Given the description of an element on the screen output the (x, y) to click on. 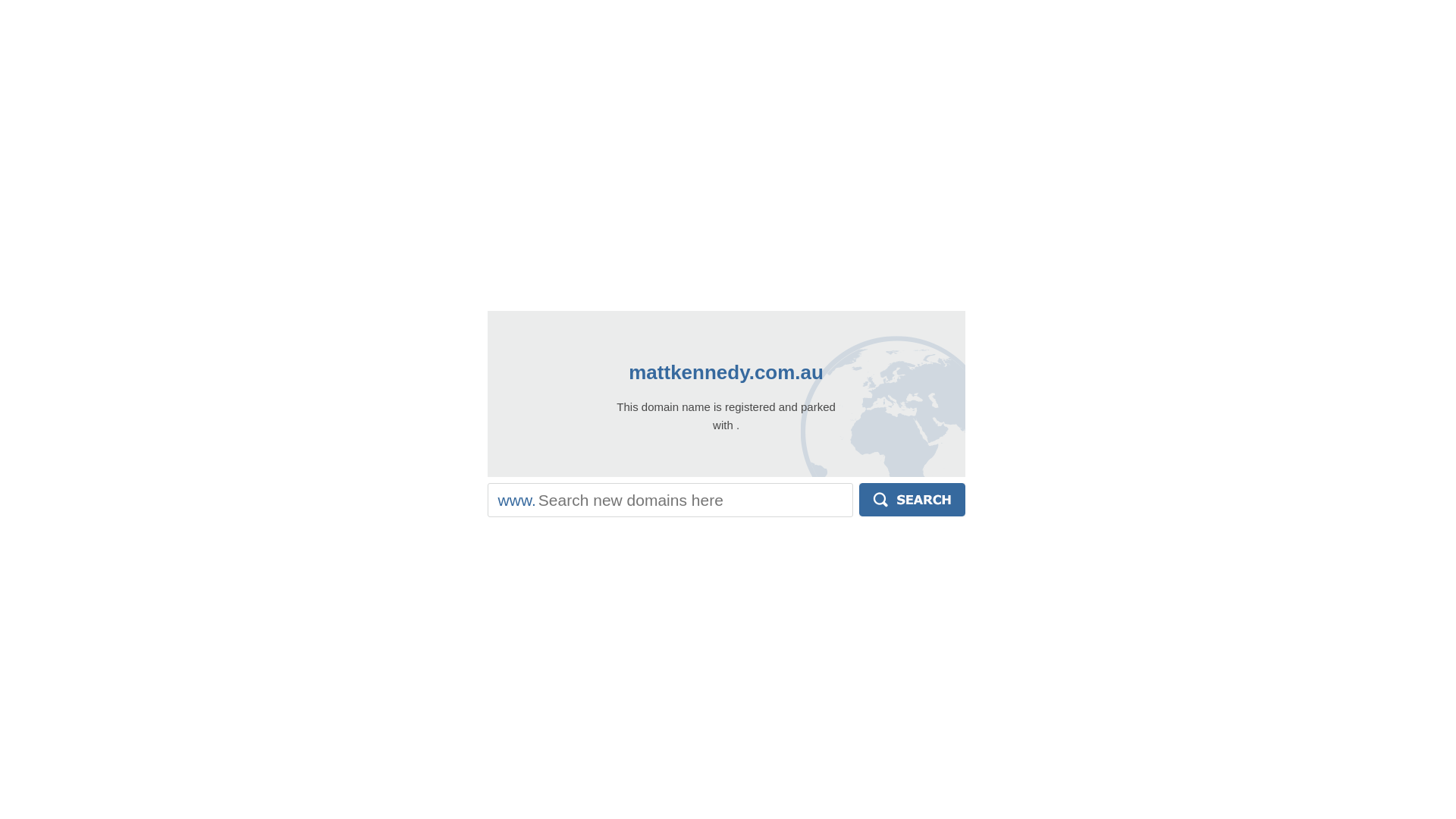
Search Element type: text (912, 499)
